Given the description of an element on the screen output the (x, y) to click on. 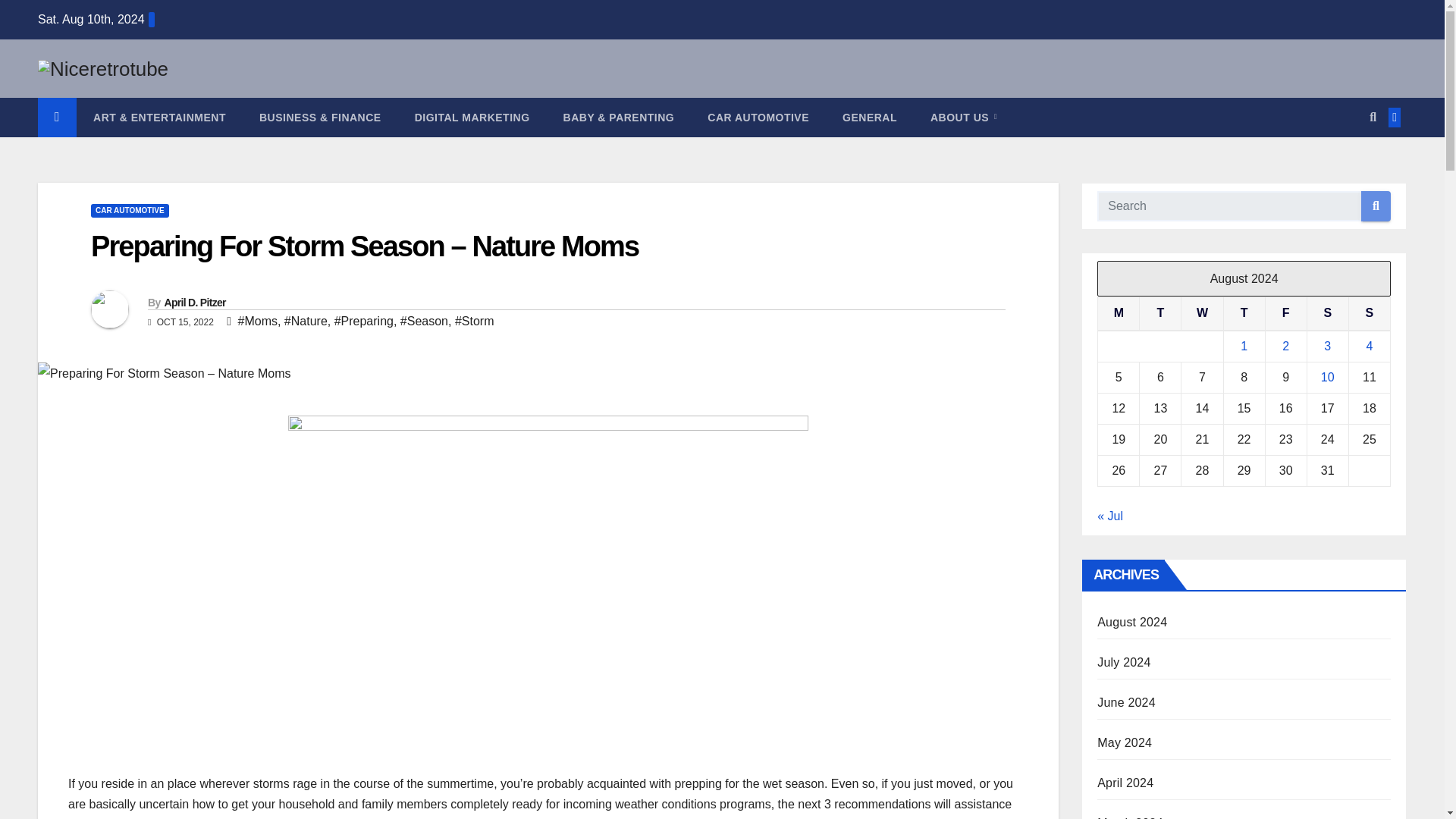
Car Automotive (757, 117)
CAR AUTOMOTIVE (129, 210)
GENERAL (869, 117)
CAR AUTOMOTIVE (757, 117)
General (869, 117)
April D. Pitzer (194, 302)
ABOUT US (963, 117)
Digital Marketing (472, 117)
DIGITAL MARKETING (472, 117)
About Us (963, 117)
